Given the description of an element on the screen output the (x, y) to click on. 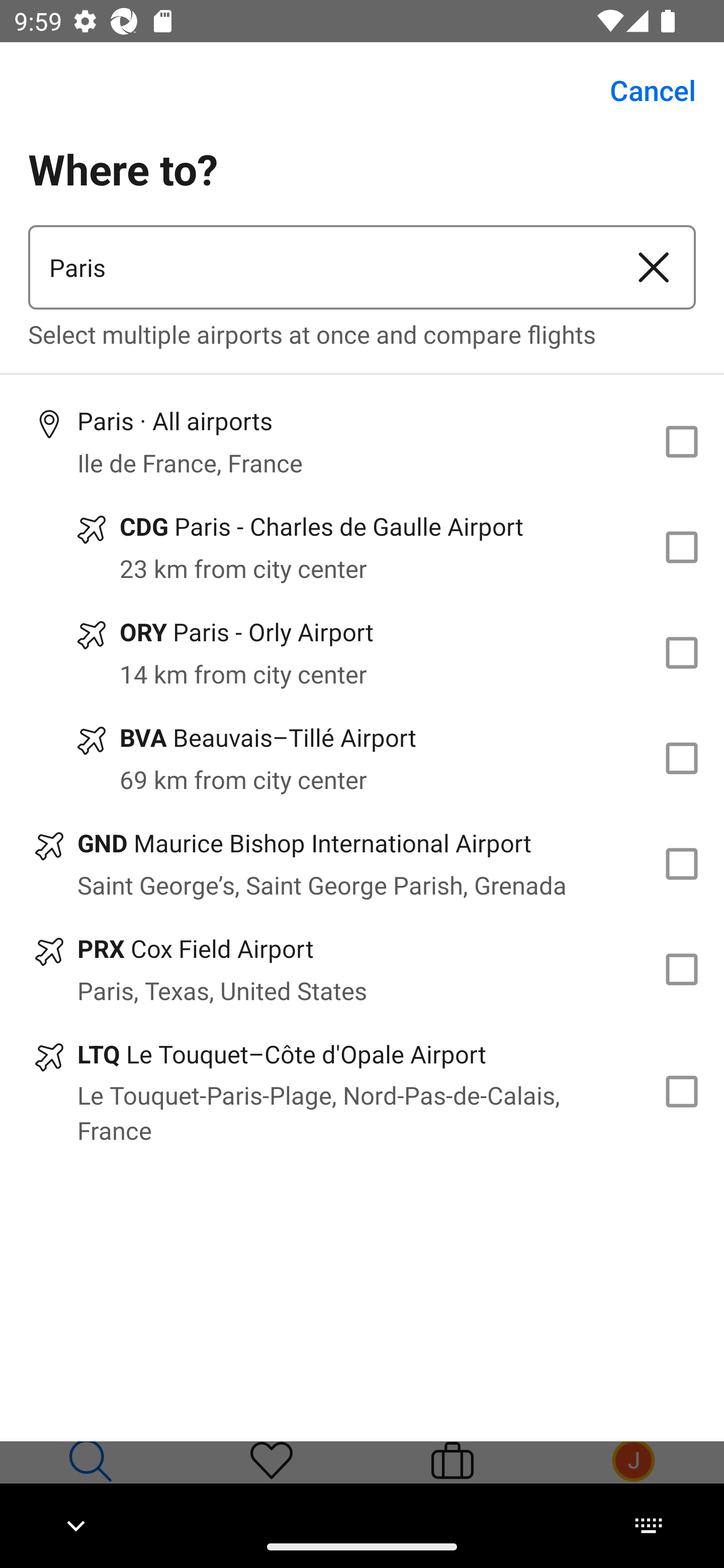
Cancel (641, 90)
Paris (319, 266)
Clear airport or city (653, 266)
Paris · All airports Ile de France, France (362, 440)
ORY Paris - Orly Airport 14 km from city center (362, 652)
BVA Beauvais–Tillé Airport 69 km from city center (362, 757)
PRX Cox Field Airport Paris, Texas, United States (362, 969)
